Given the description of an element on the screen output the (x, y) to click on. 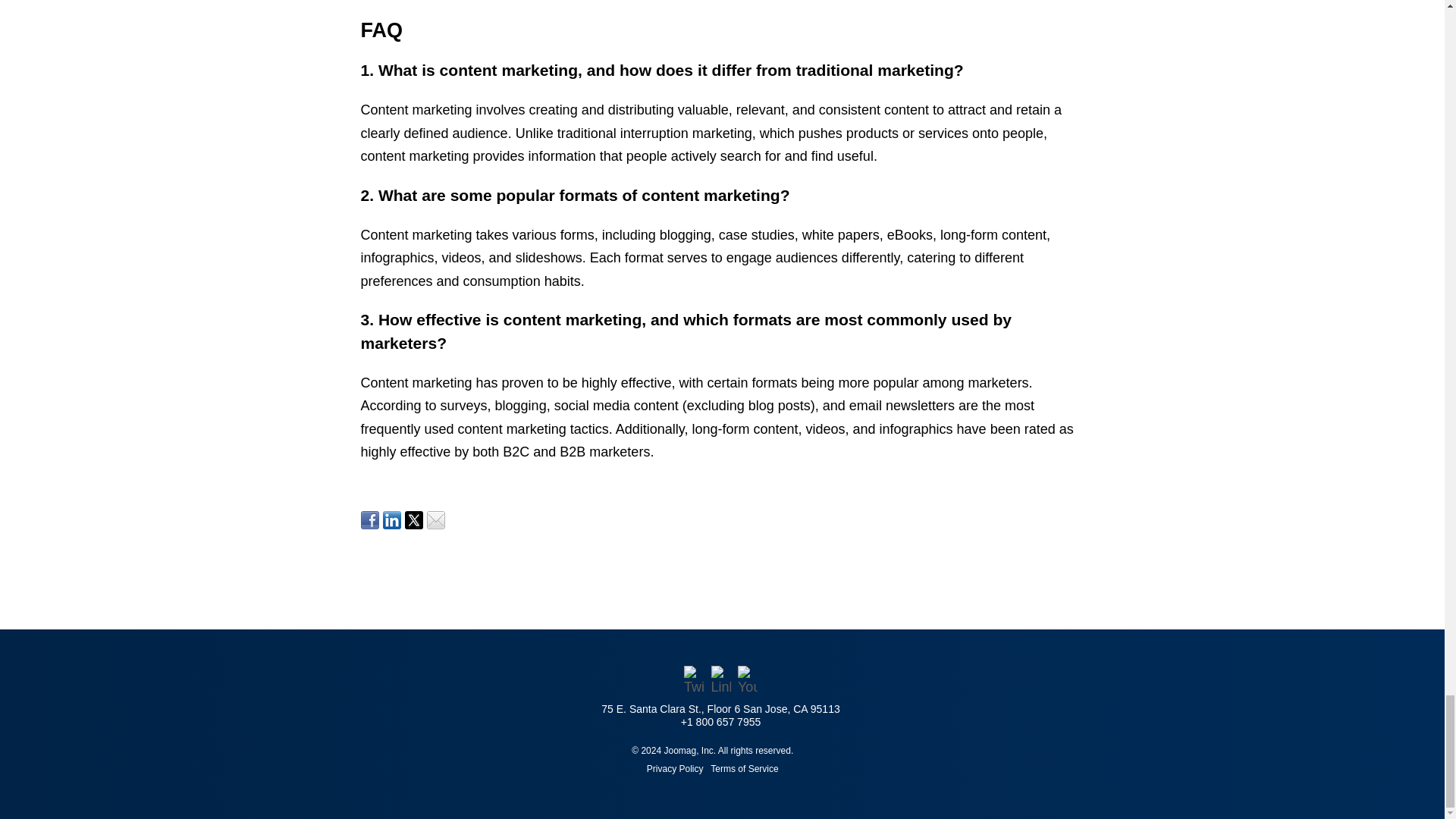
75 E. Santa Clara St., Floor 6 San Jose, CA 95113 (720, 708)
Privacy Policy (676, 768)
Terms of Service (743, 768)
